Given the description of an element on the screen output the (x, y) to click on. 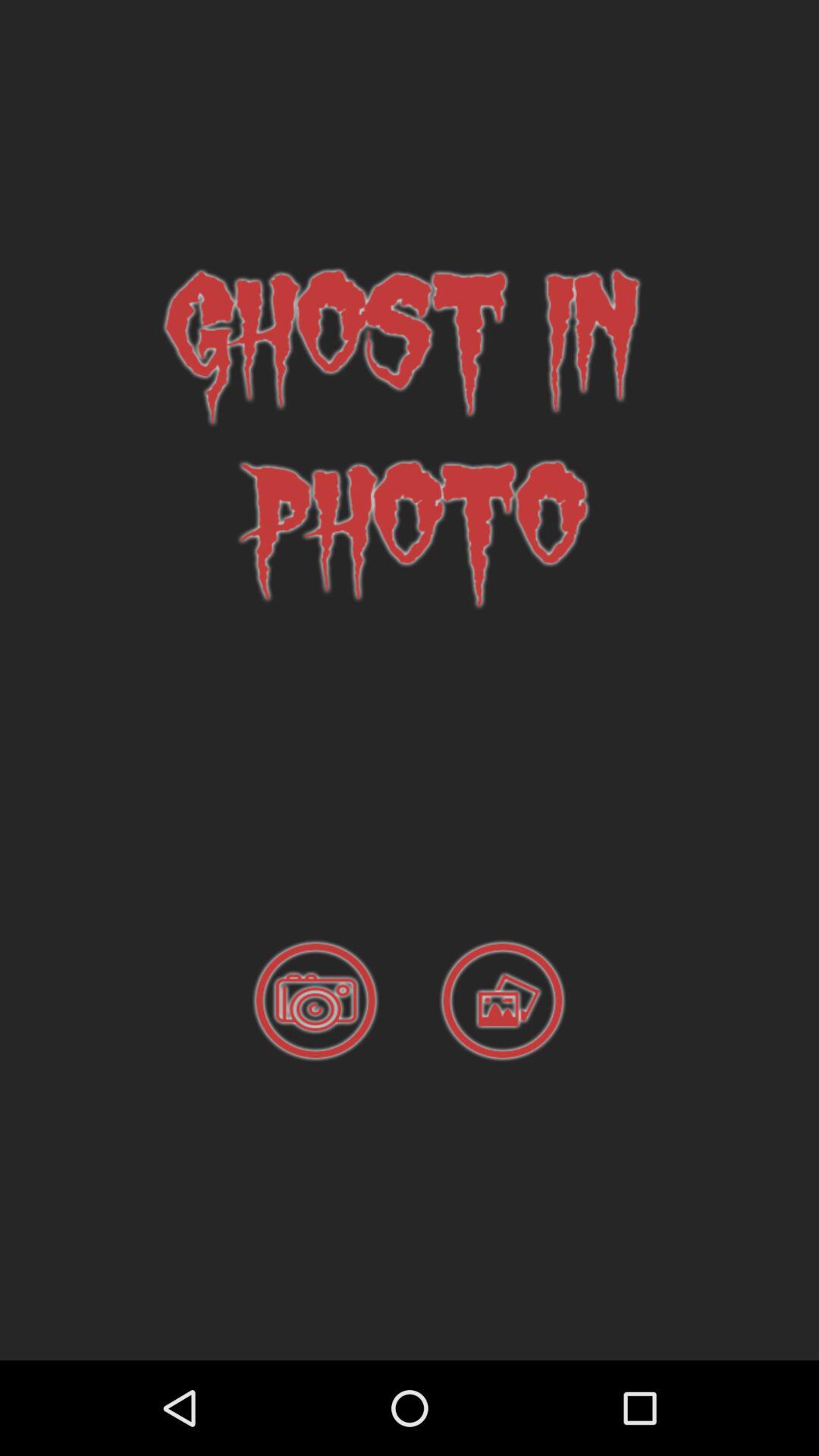
save photo (502, 1000)
